Given the description of an element on the screen output the (x, y) to click on. 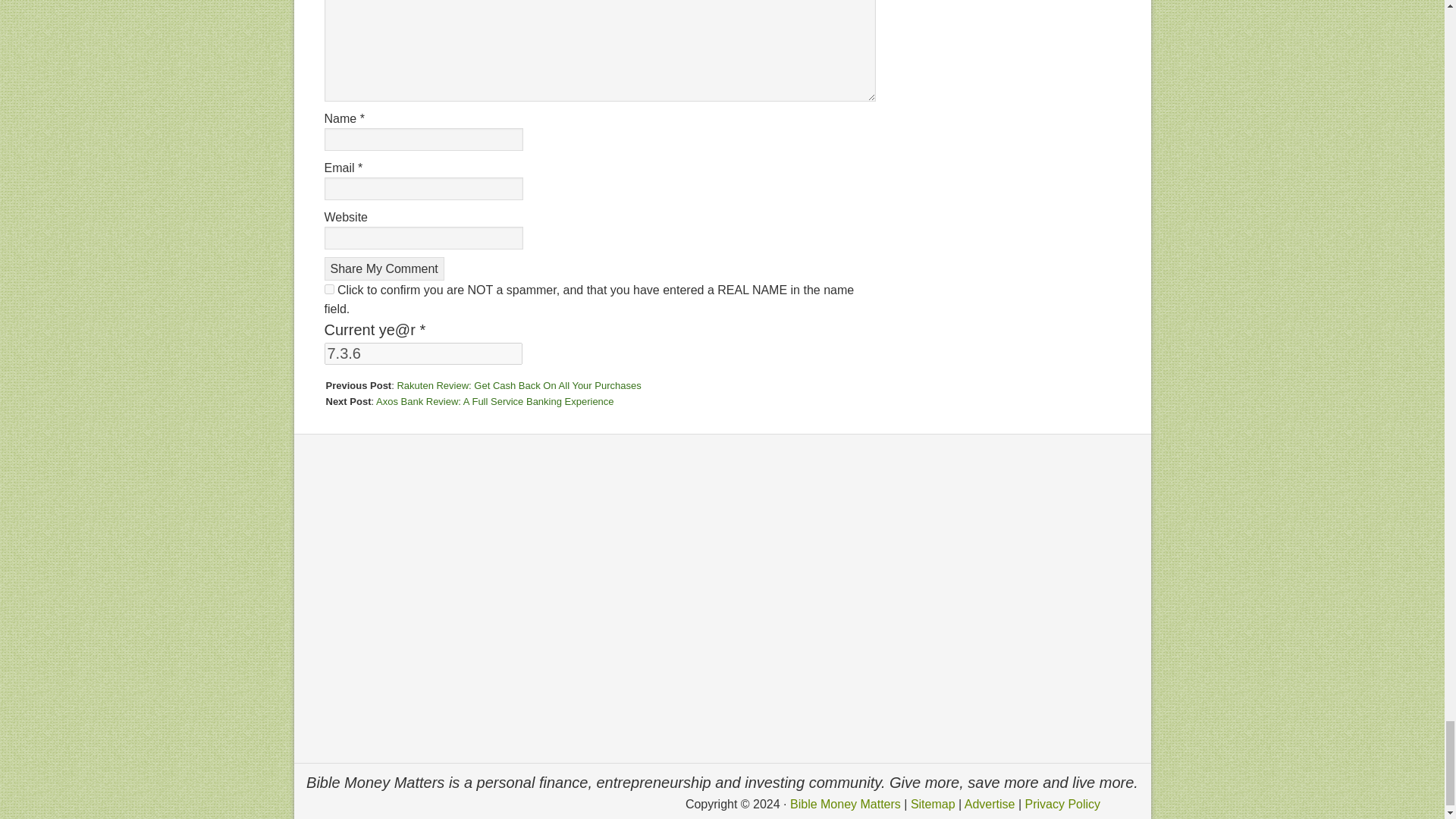
on (329, 289)
7.3.6 (423, 353)
Share My Comment (384, 268)
